Given the description of an element on the screen output the (x, y) to click on. 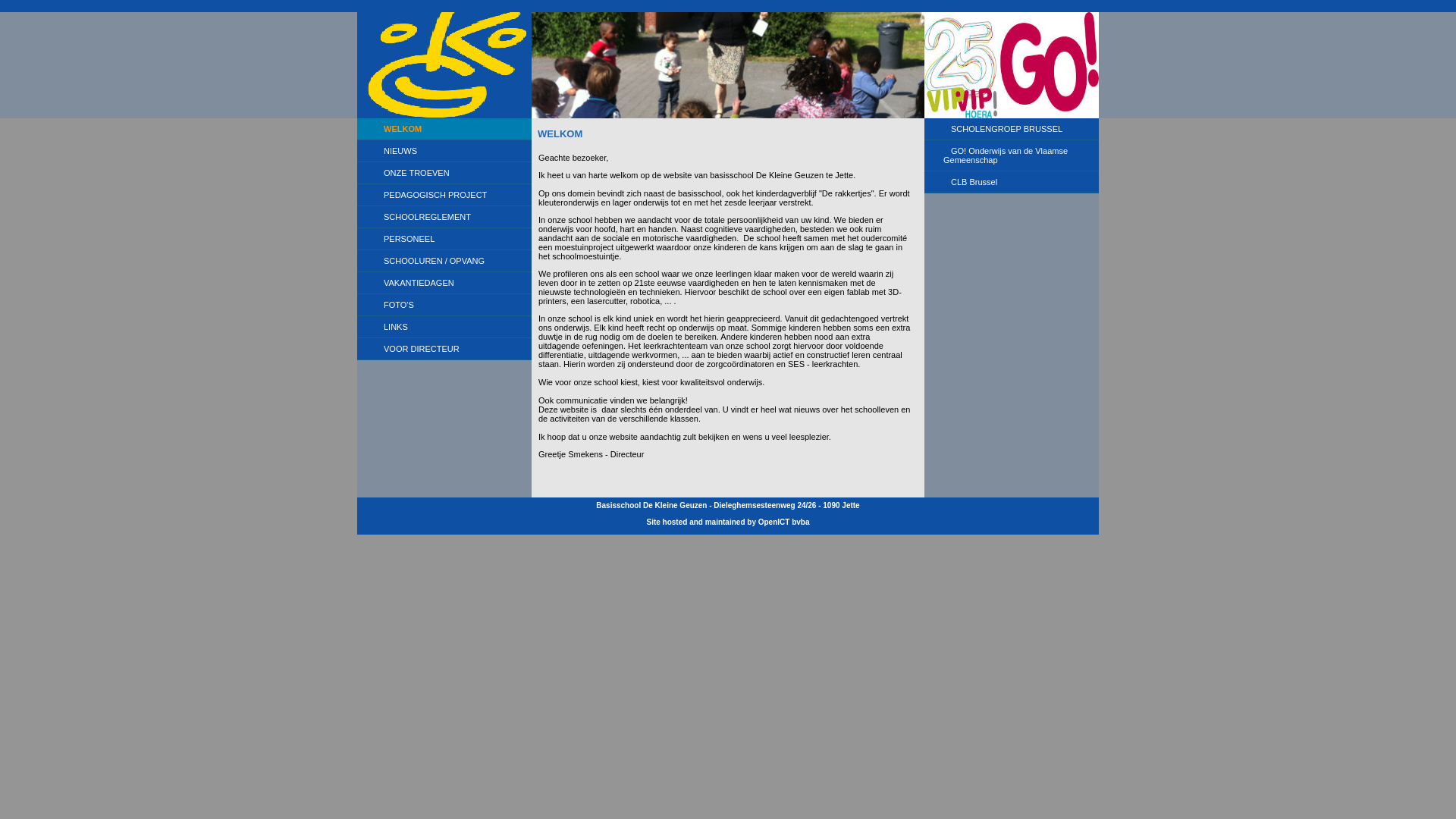
SCHOOLREGLEMENT Element type: text (444, 217)
OpenICT bvba Element type: text (783, 521)
NIEUWS Element type: text (444, 151)
VOOR DIRECTEUR Element type: text (444, 349)
CLB Brussel Element type: text (1011, 182)
FOTO'S Element type: text (444, 305)
SCHOLENGROEP BRUSSEL Element type: text (1011, 129)
SCHOOLUREN / OPVANG Element type: text (444, 261)
VAKANTIEDAGEN Element type: text (444, 283)
GO! Onderwijs van de Vlaamse Gemeenschap Element type: text (1011, 155)
WELKOM Element type: text (444, 129)
PEDAGOGISCH PROJECT Element type: text (444, 195)
LINKS Element type: text (444, 327)
ONZE TROEVEN Element type: text (444, 173)
PERSONEEL Element type: text (444, 239)
